Given the description of an element on the screen output the (x, y) to click on. 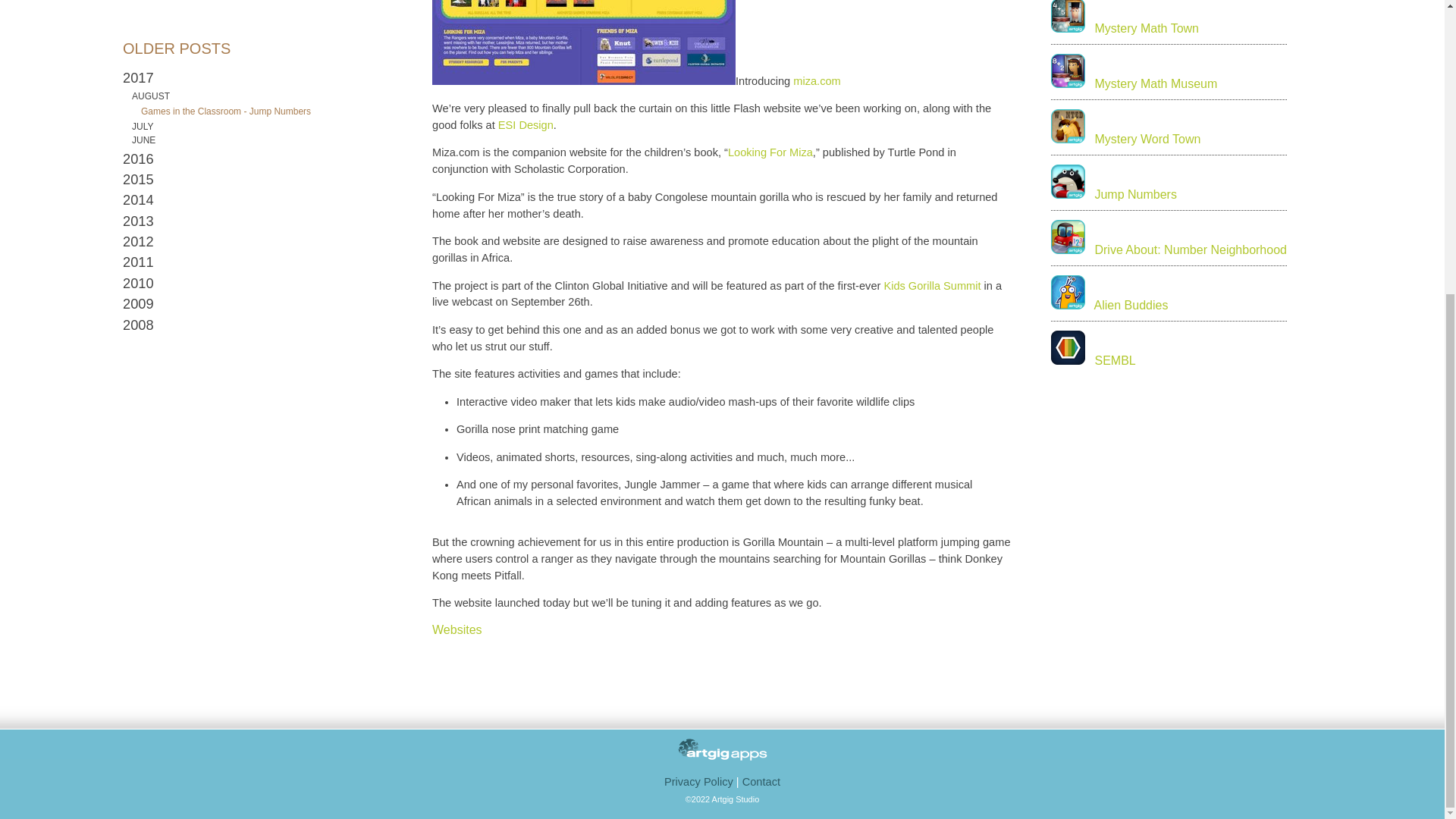
Games in the Classroom - Jump Numbers (226, 111)
